Given the description of an element on the screen output the (x, y) to click on. 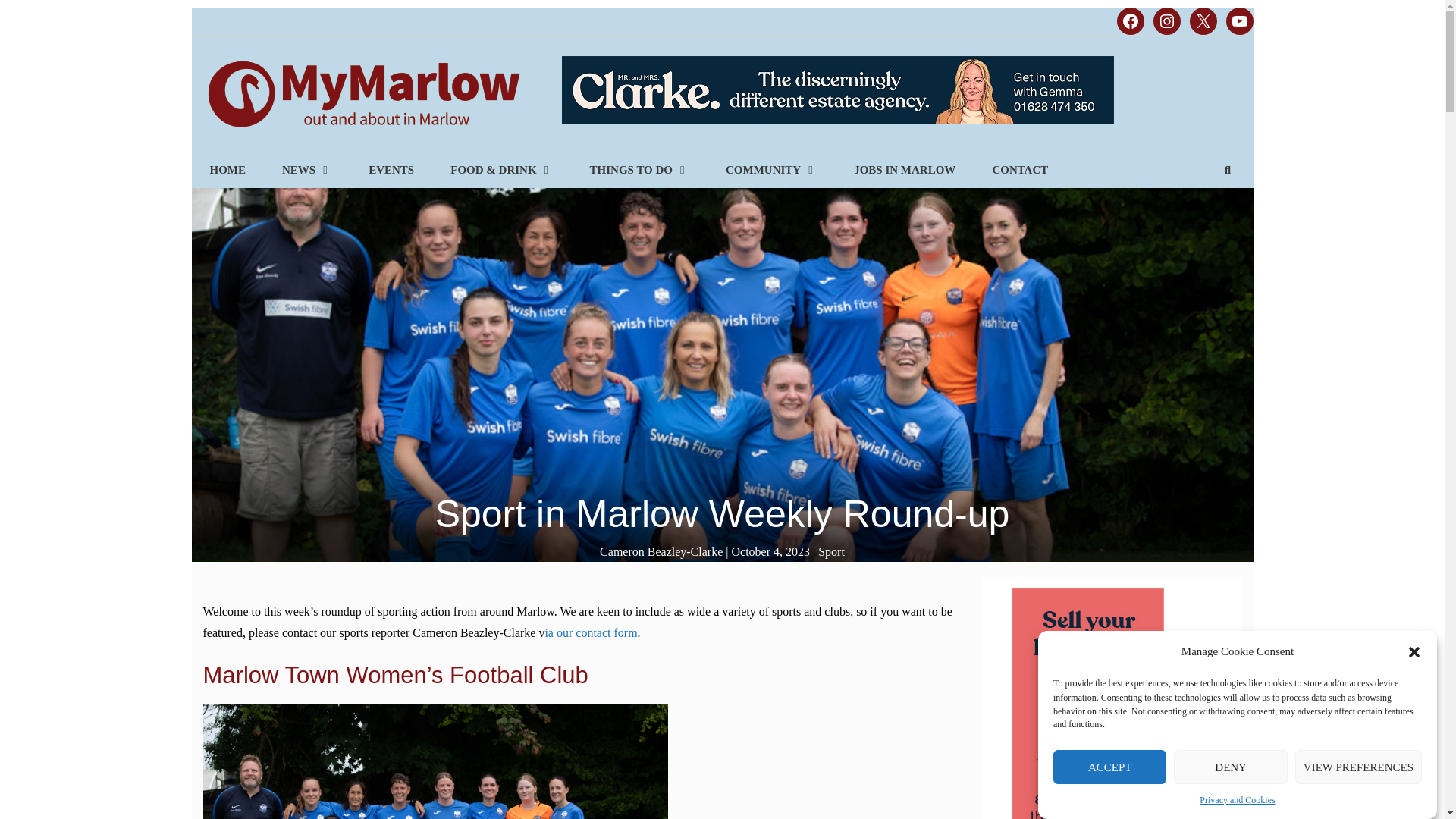
Facebook (1129, 21)
Instagram (1166, 21)
X (1202, 21)
YouTube (1238, 21)
View all posts by Cameron Beazley-Clarke (660, 551)
